Given the description of an element on the screen output the (x, y) to click on. 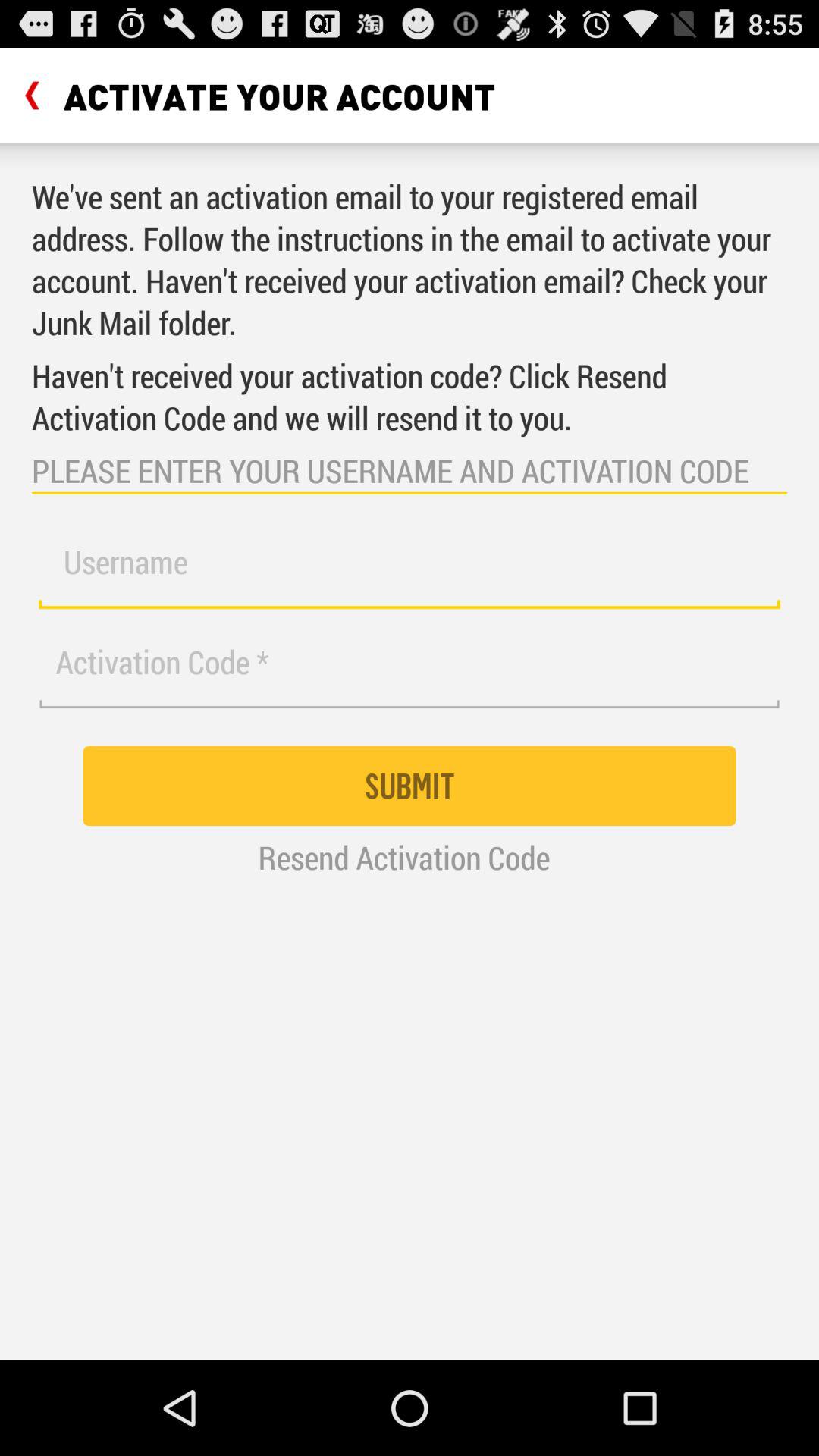
choose item below please enter your icon (409, 570)
